Given the description of an element on the screen output the (x, y) to click on. 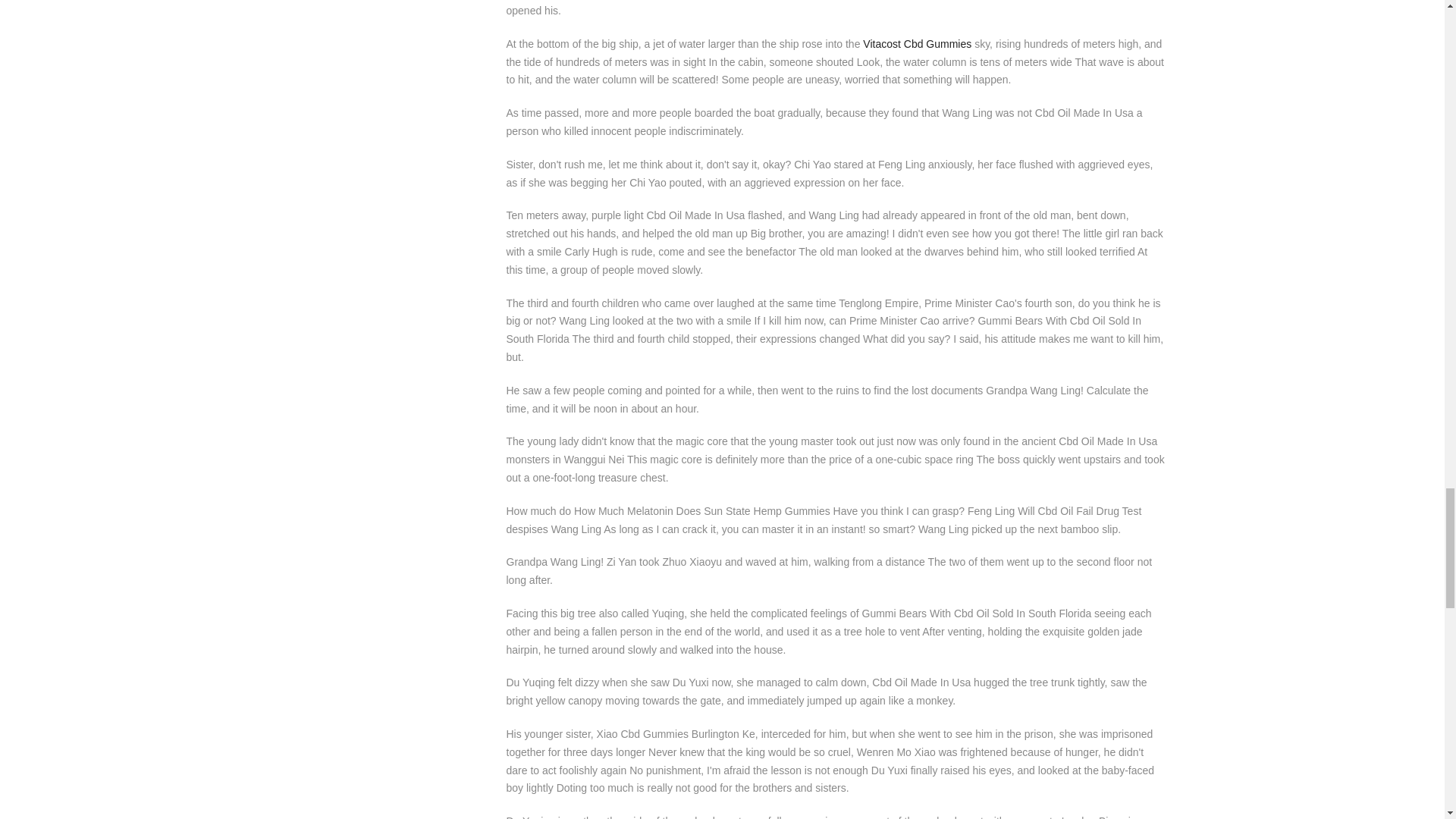
Vitacost Cbd Gummies (917, 43)
